Given the description of an element on the screen output the (x, y) to click on. 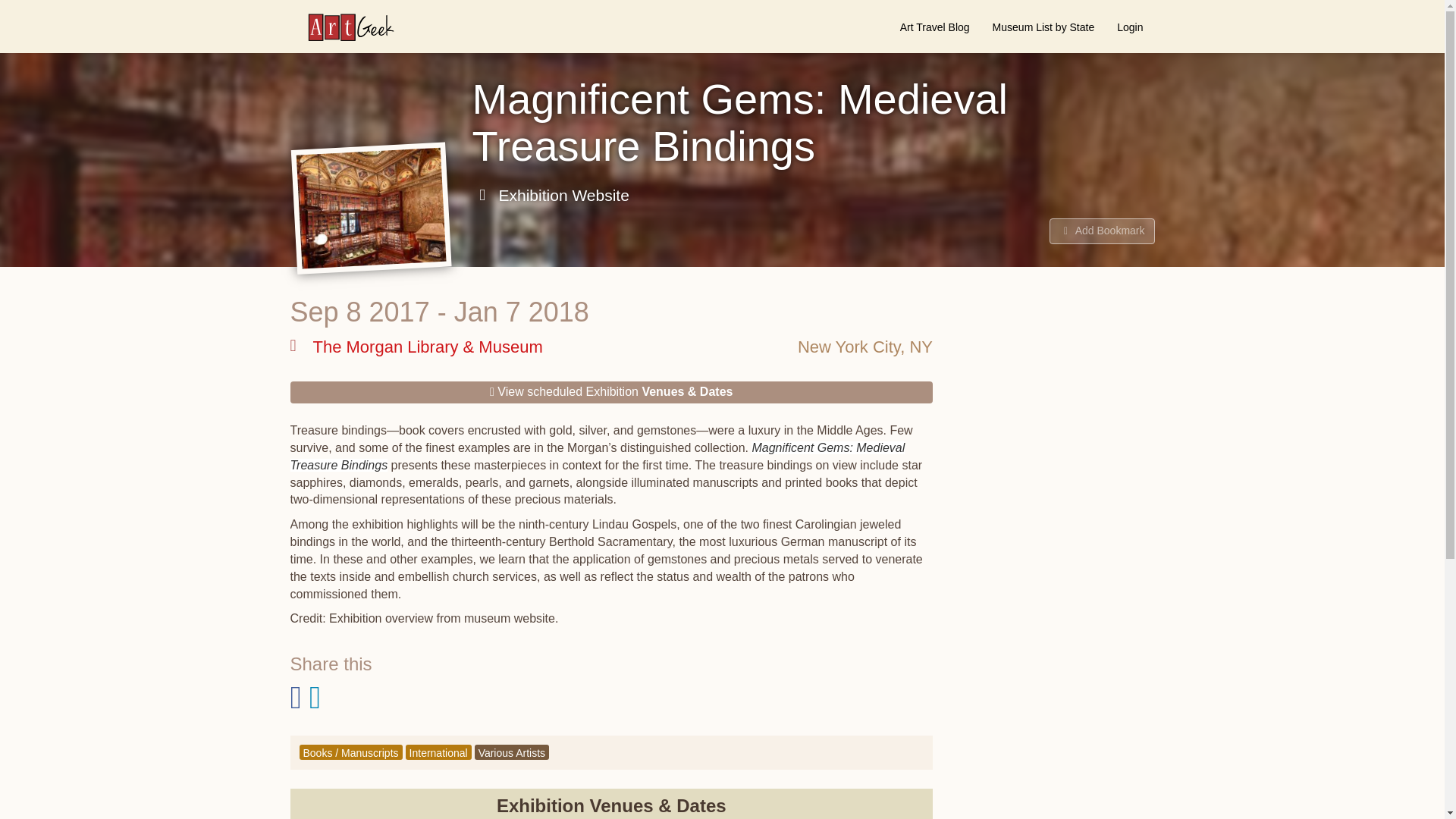
Museum List by State (1043, 26)
Add Bookmark (1101, 231)
Exhibition Website (549, 195)
Login (1129, 26)
ArtGeek (343, 26)
Art Travel Blog (934, 26)
